Given the description of an element on the screen output the (x, y) to click on. 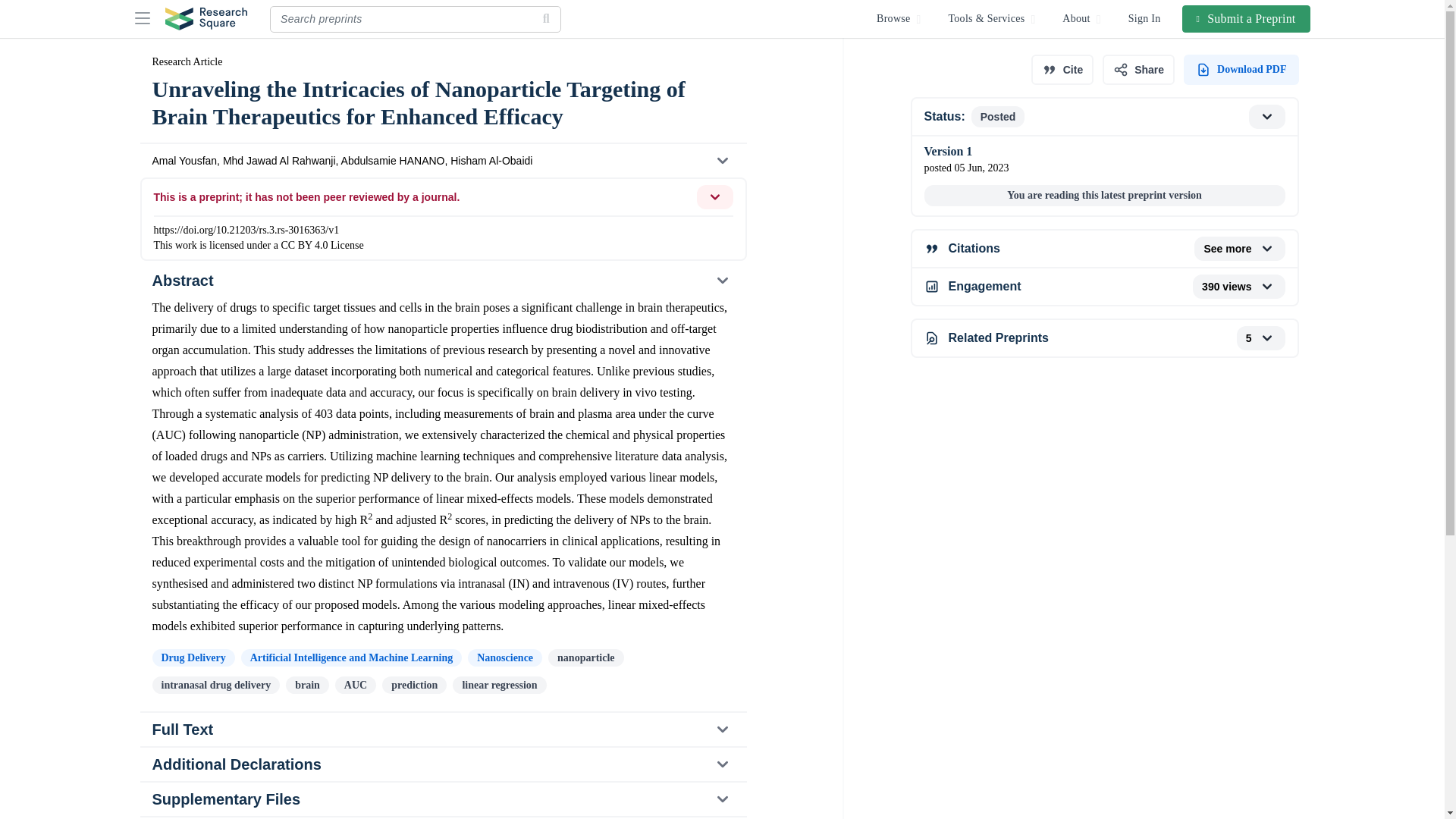
Share (1138, 69)
Drug Delivery (192, 657)
Sign In (1144, 18)
Abstract (1103, 338)
Cite (442, 280)
Artificial Intelligence and Machine Learning (1061, 69)
